Given the description of an element on the screen output the (x, y) to click on. 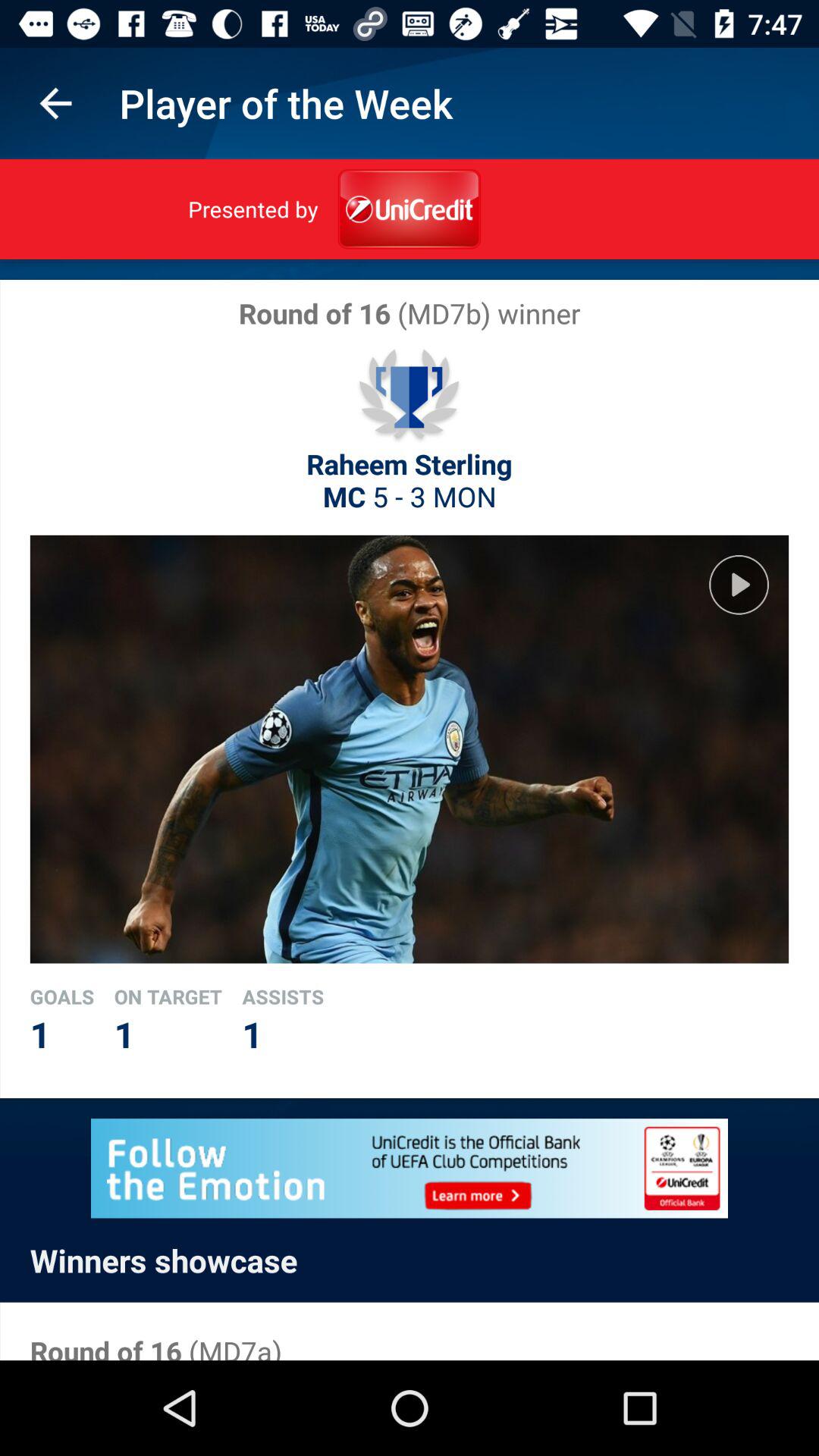
advertisement page (409, 1168)
